Given the description of an element on the screen output the (x, y) to click on. 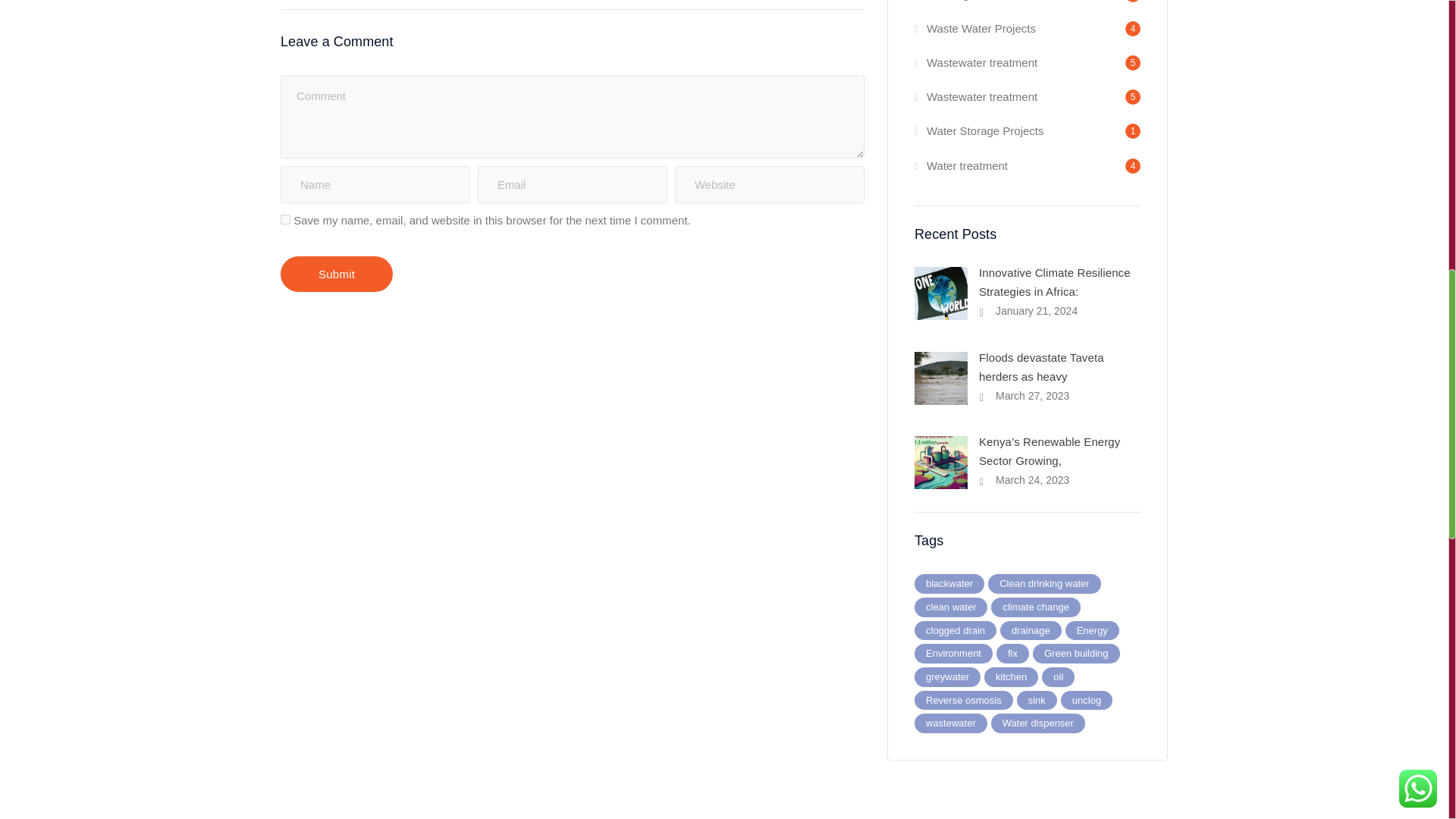
yes (285, 219)
Submit (337, 273)
Submit (337, 273)
Uncategorized (957, 5)
